Given the description of an element on the screen output the (x, y) to click on. 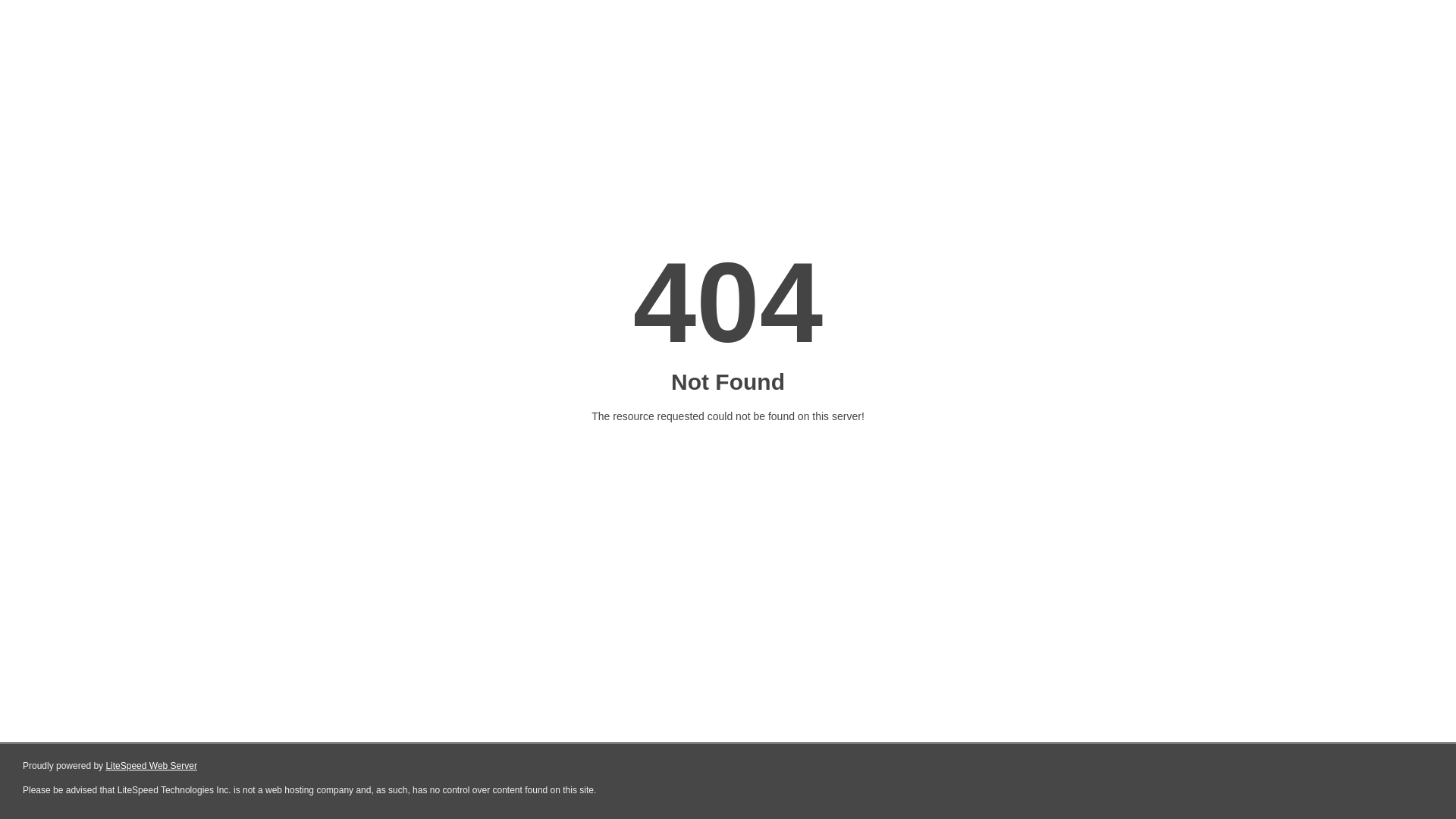
LiteSpeed Web Server Element type: text (151, 765)
